Given the description of an element on the screen output the (x, y) to click on. 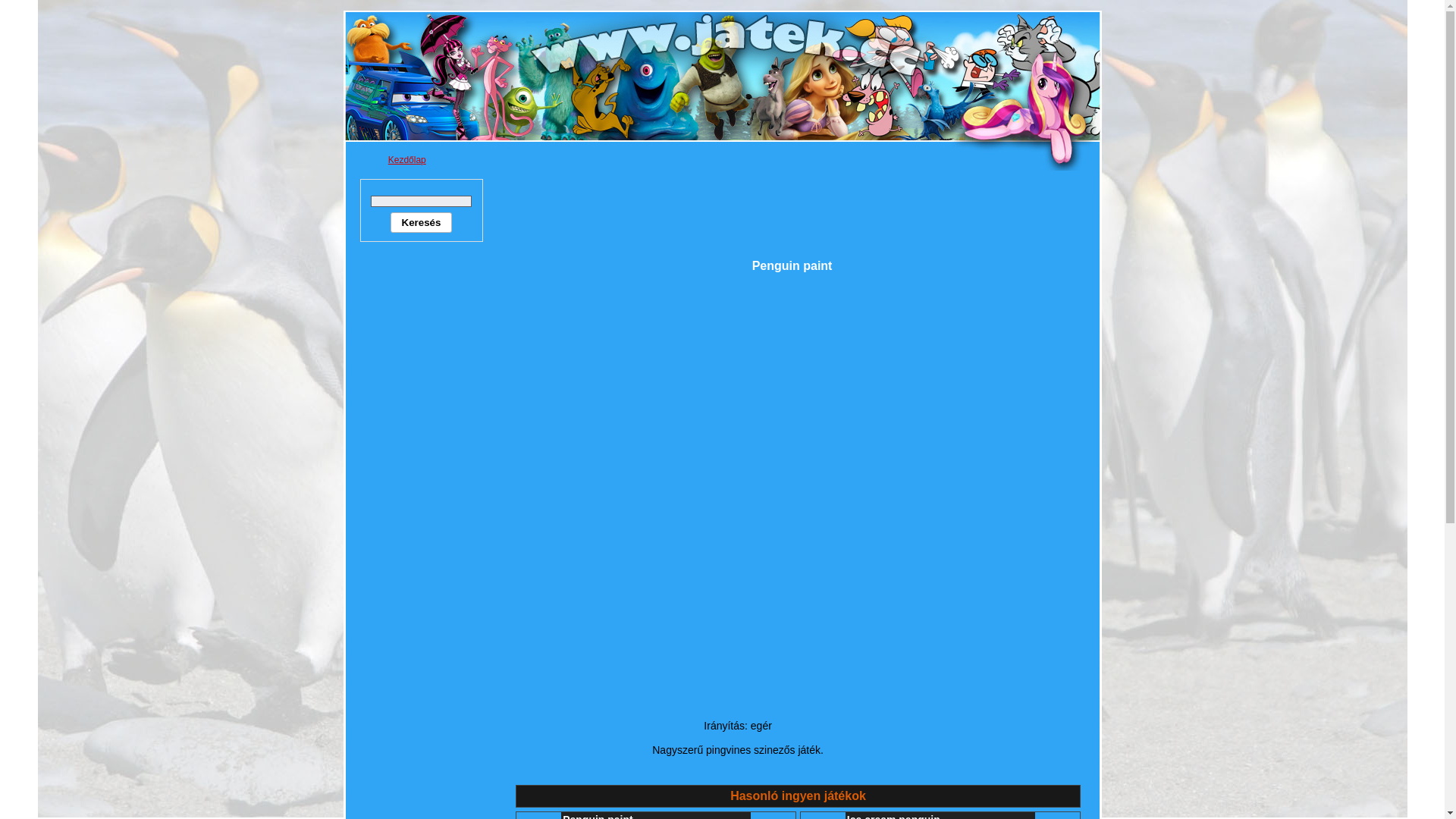
Advertisement Element type: hover (421, 485)
Advertisement Element type: hover (797, 212)
